Given the description of an element on the screen output the (x, y) to click on. 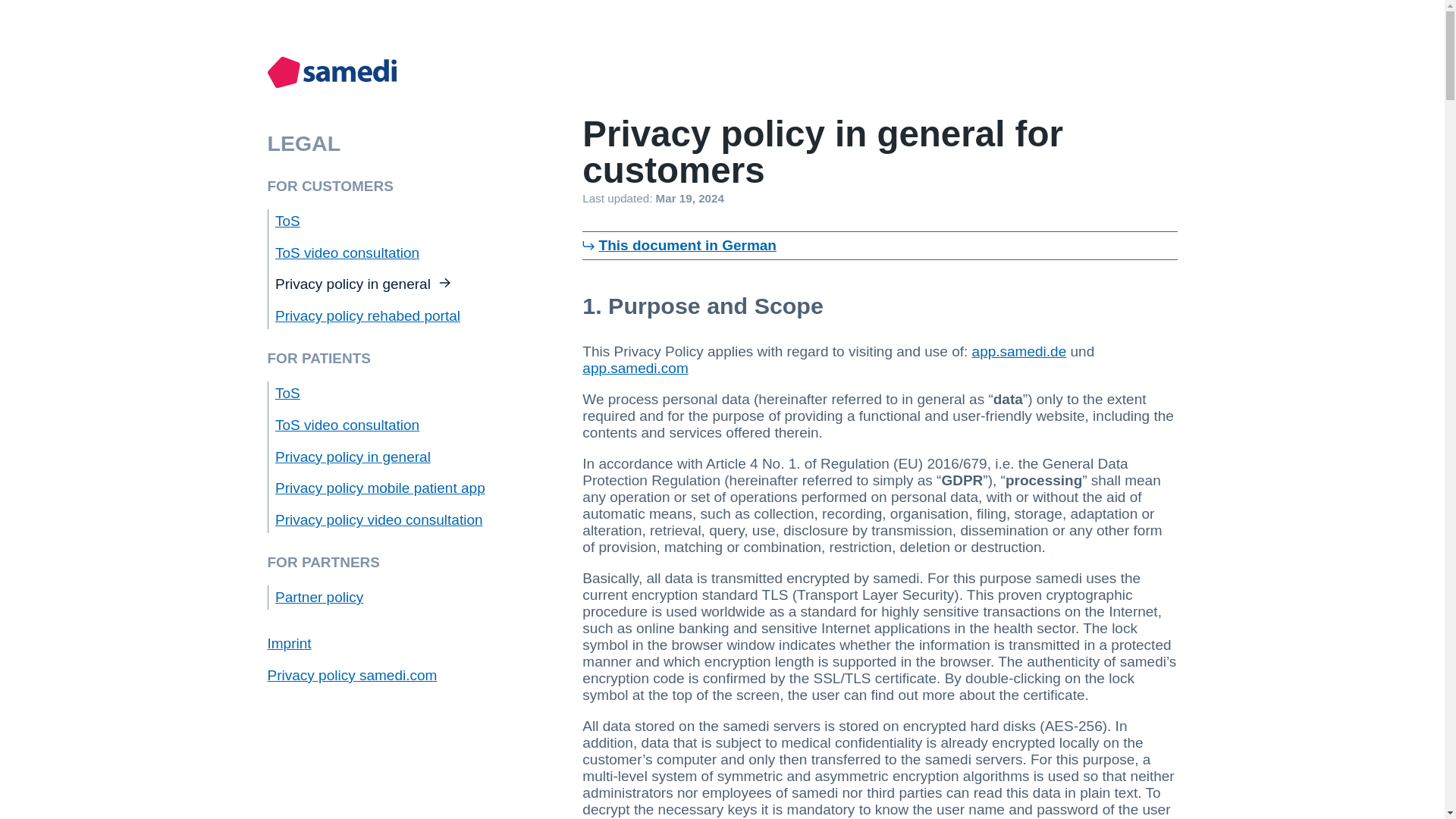
ToS (287, 392)
ToS video consultation (347, 252)
ToS (287, 220)
Privacy policy mobile patient app (379, 487)
Imprint (288, 643)
Privacy policy rehabed portal (367, 315)
Partner policy (318, 596)
app.samedi.com (634, 367)
Privacy policy video consultation (379, 519)
ToS video consultation (347, 424)
Privacy policy in general (352, 456)
app.samedi.de (1019, 351)
This document in German (687, 245)
Privacy policy in general (363, 283)
Privacy policy samedi.com (351, 675)
